Given the description of an element on the screen output the (x, y) to click on. 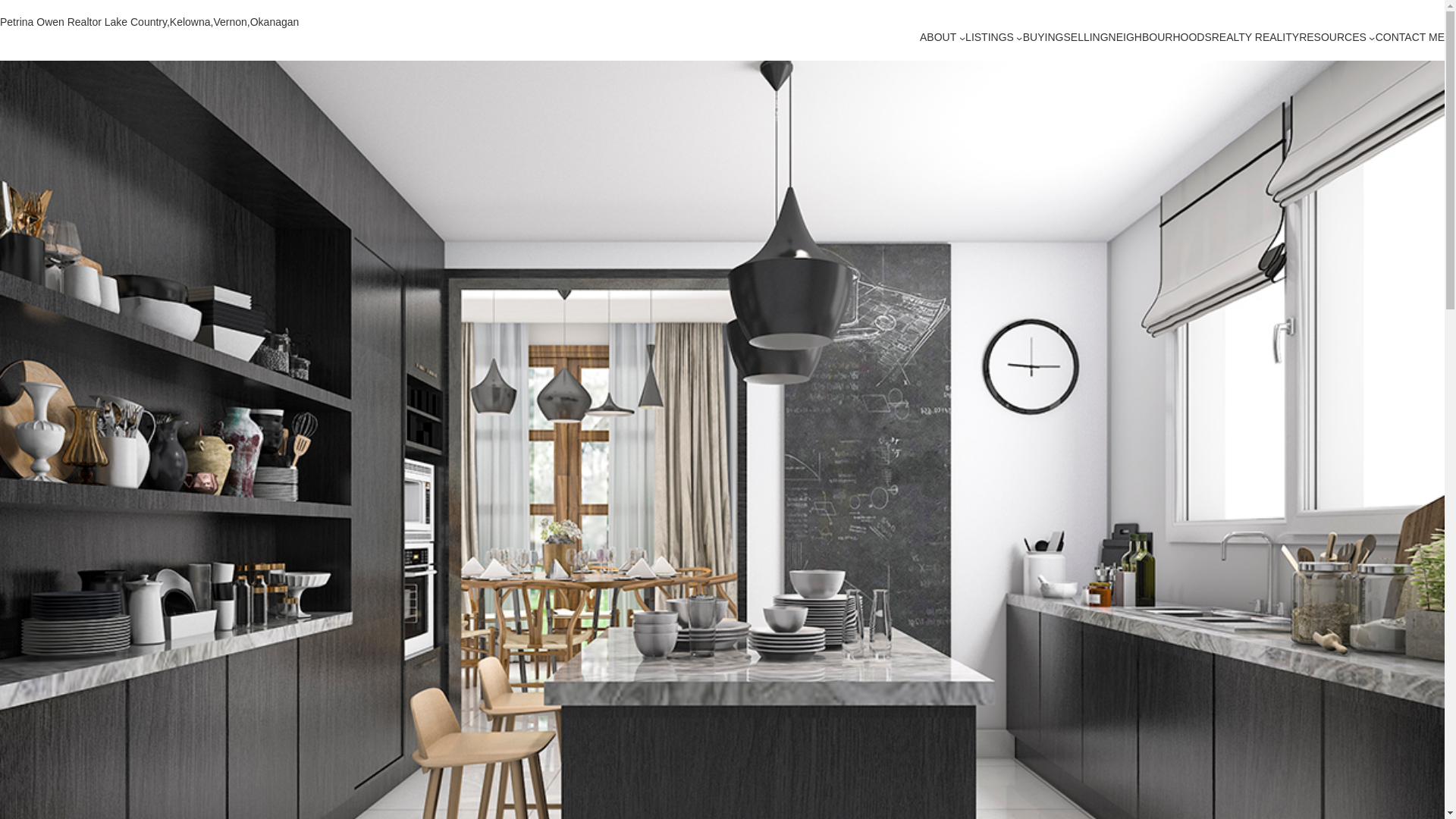
ABOUT (938, 37)
REALTY REALITY (1254, 37)
RESOURCES (1332, 37)
NEIGHBOURHOODS (1159, 37)
About Petrina Koltun Kelowna Real Estate Sales Royal LePage (938, 37)
Petrina Owen Realtor Lake Country,Kelowna,Vernon,Okanagan (149, 21)
LISTINGS (989, 37)
SELLING (1085, 37)
BUYING (1043, 37)
